Given the description of an element on the screen output the (x, y) to click on. 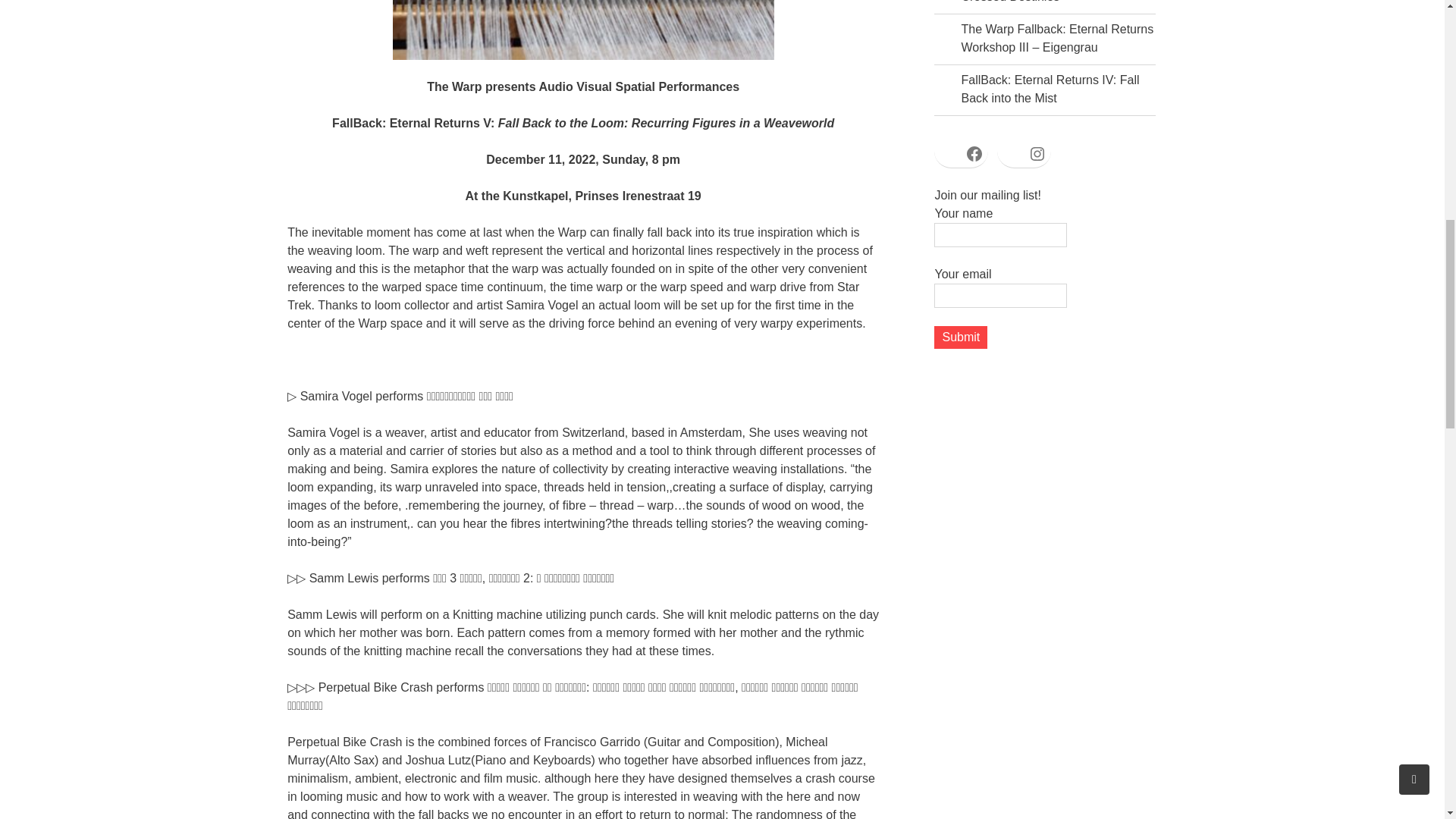
FallBack: Eternal Returns IV: Fall Back into the Mist (1044, 88)
Submit (954, 336)
Instagram (1031, 153)
Submit (954, 336)
Facebook (968, 153)
Our Dilating Arcana: The Realm of Crossed Destinies (1047, 1)
